Given the description of an element on the screen output the (x, y) to click on. 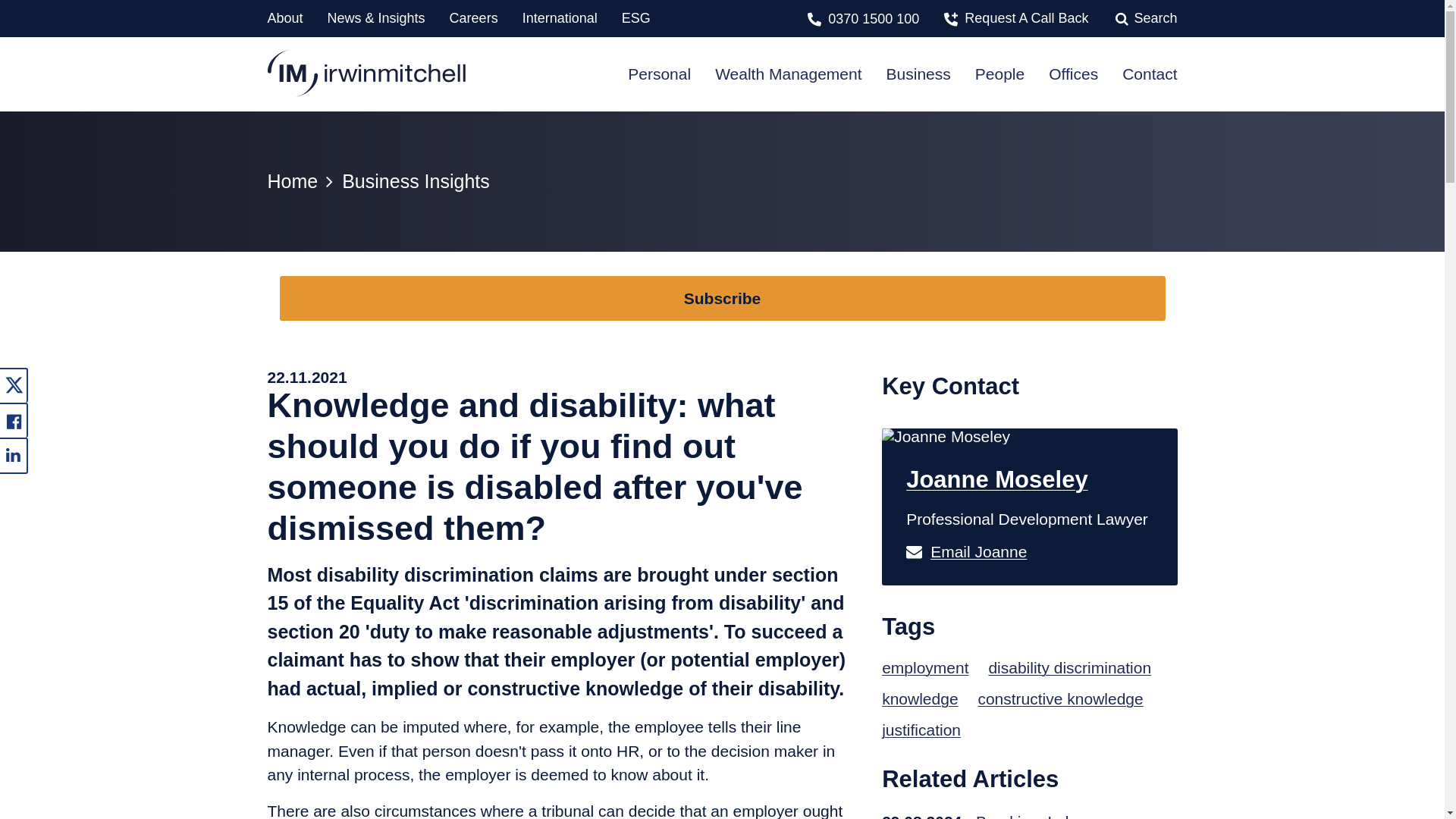
International (559, 18)
About (284, 18)
Careers (473, 18)
Request A Call Back (1025, 18)
0370 1500 100 (873, 18)
Search (1155, 18)
Personal (658, 73)
